Given the description of an element on the screen output the (x, y) to click on. 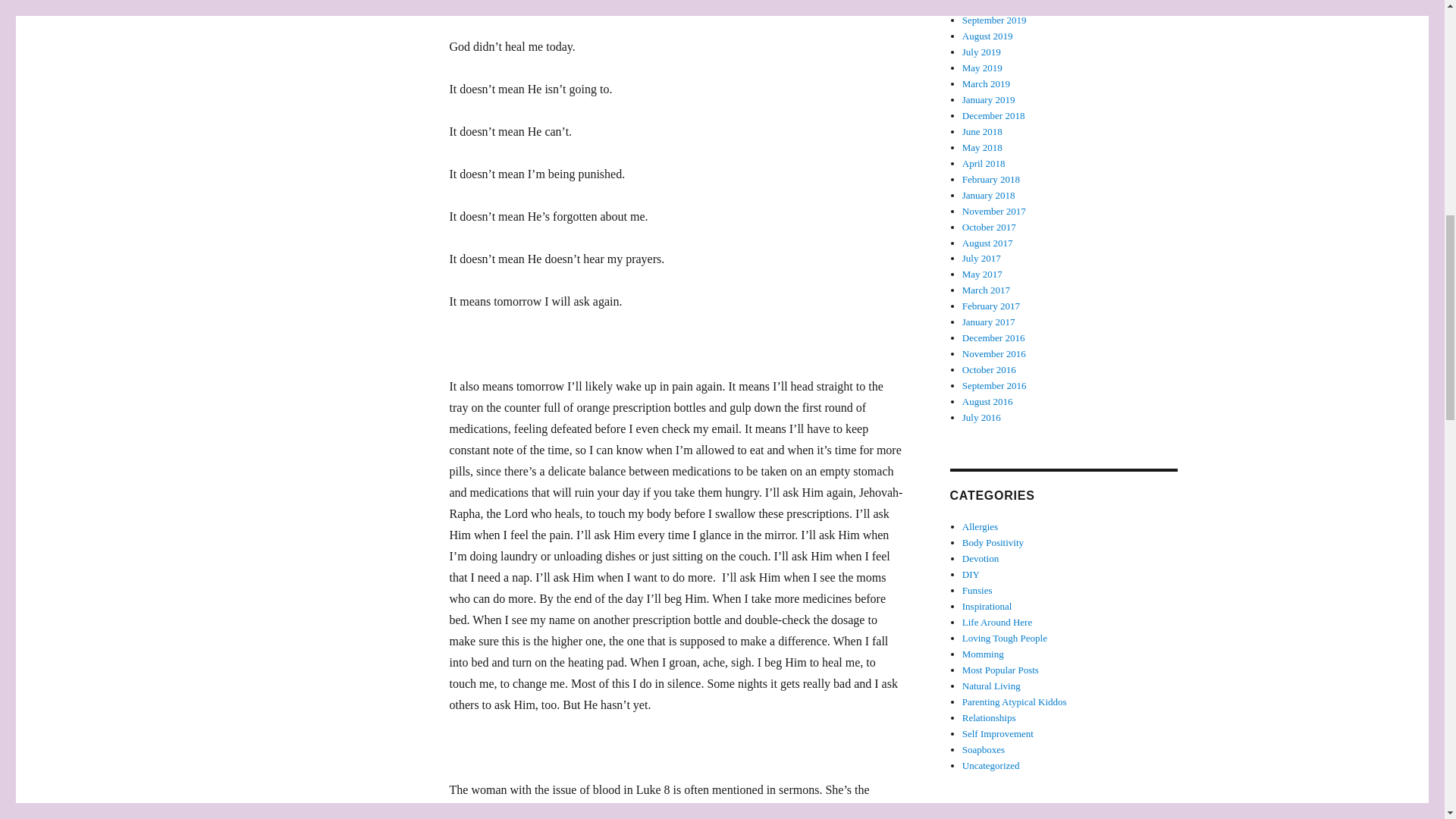
March 2019 (986, 83)
July 2019 (981, 51)
January 2019 (988, 99)
September 2019 (994, 19)
December 2018 (993, 115)
August 2019 (987, 35)
May 2019 (982, 67)
June 2018 (982, 131)
April 2018 (984, 163)
May 2018 (982, 147)
